Given the description of an element on the screen output the (x, y) to click on. 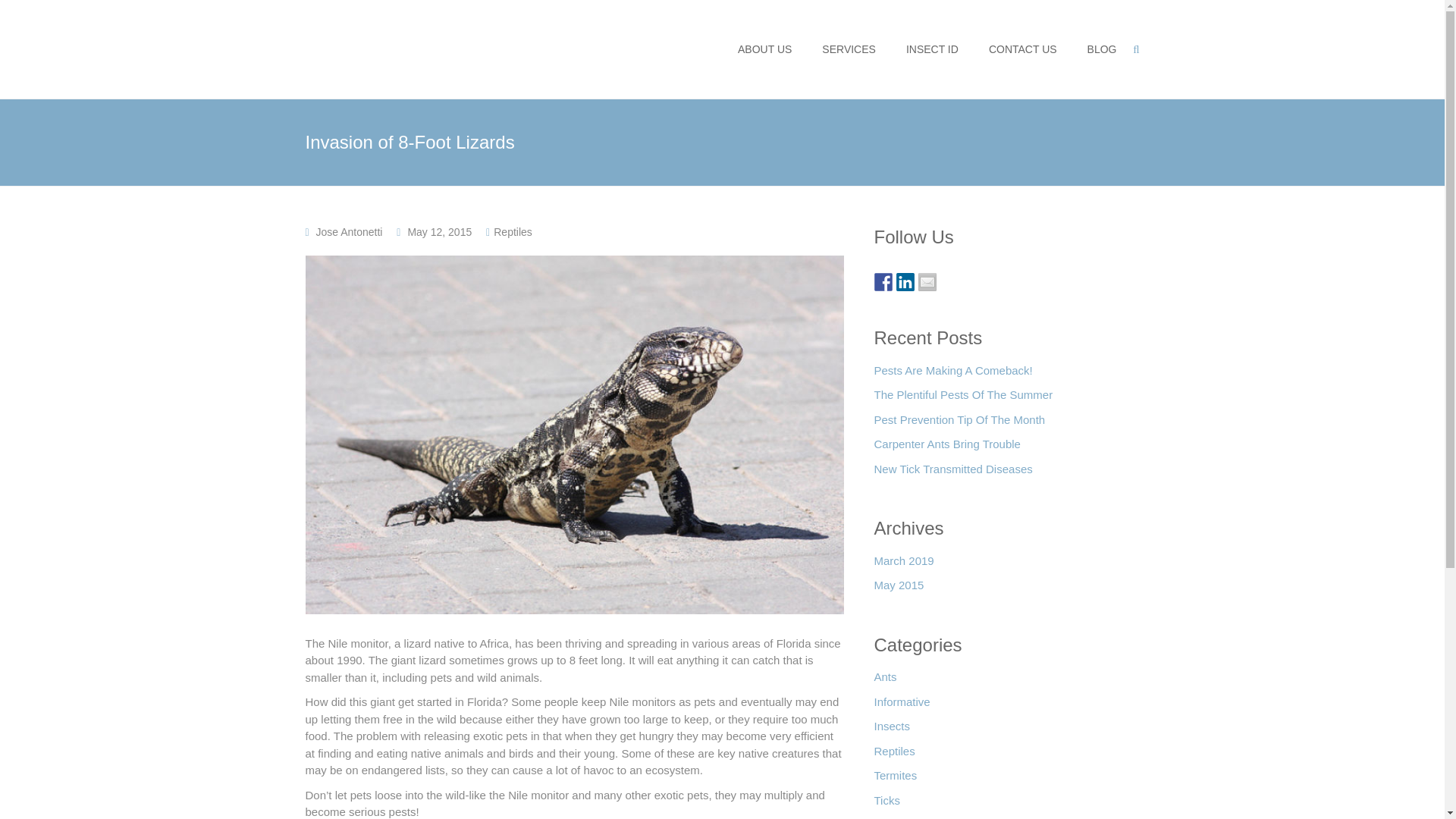
Ants (884, 681)
Pests Are Making A Comeback! (952, 374)
Reptiles (893, 755)
CONTACT US (1022, 49)
3:13 pm (439, 232)
Termites (895, 779)
Contact Us (926, 281)
INSECT ID (931, 49)
Jose Antonetti (348, 232)
Tips (884, 817)
SERVICES (849, 49)
Reptiles (512, 232)
May 12, 2015 (439, 232)
Carpenter Ants Bring Trouble (946, 448)
The Plentiful Pests Of The Summer (962, 398)
